Given the description of an element on the screen output the (x, y) to click on. 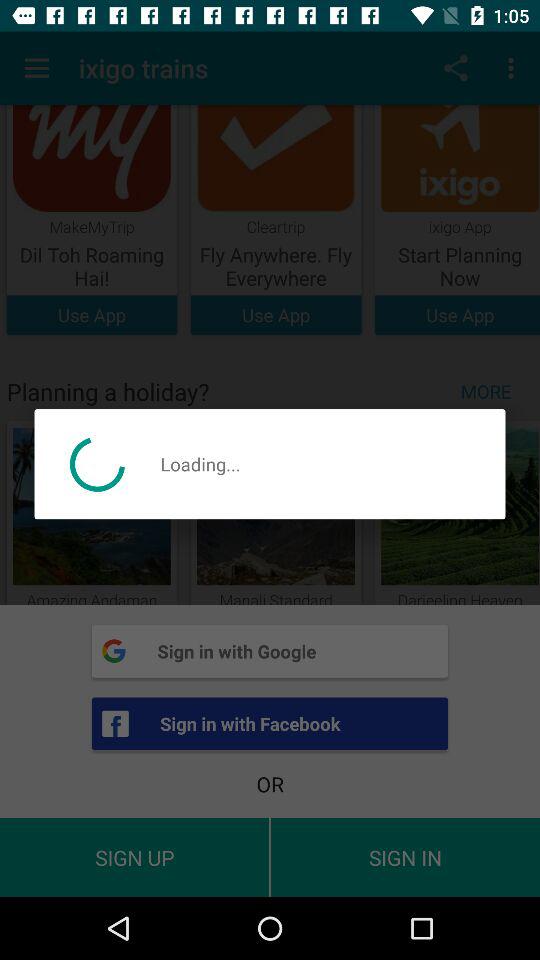
go to more (490, 392)
click on first row of second image (276, 219)
